Given the description of an element on the screen output the (x, y) to click on. 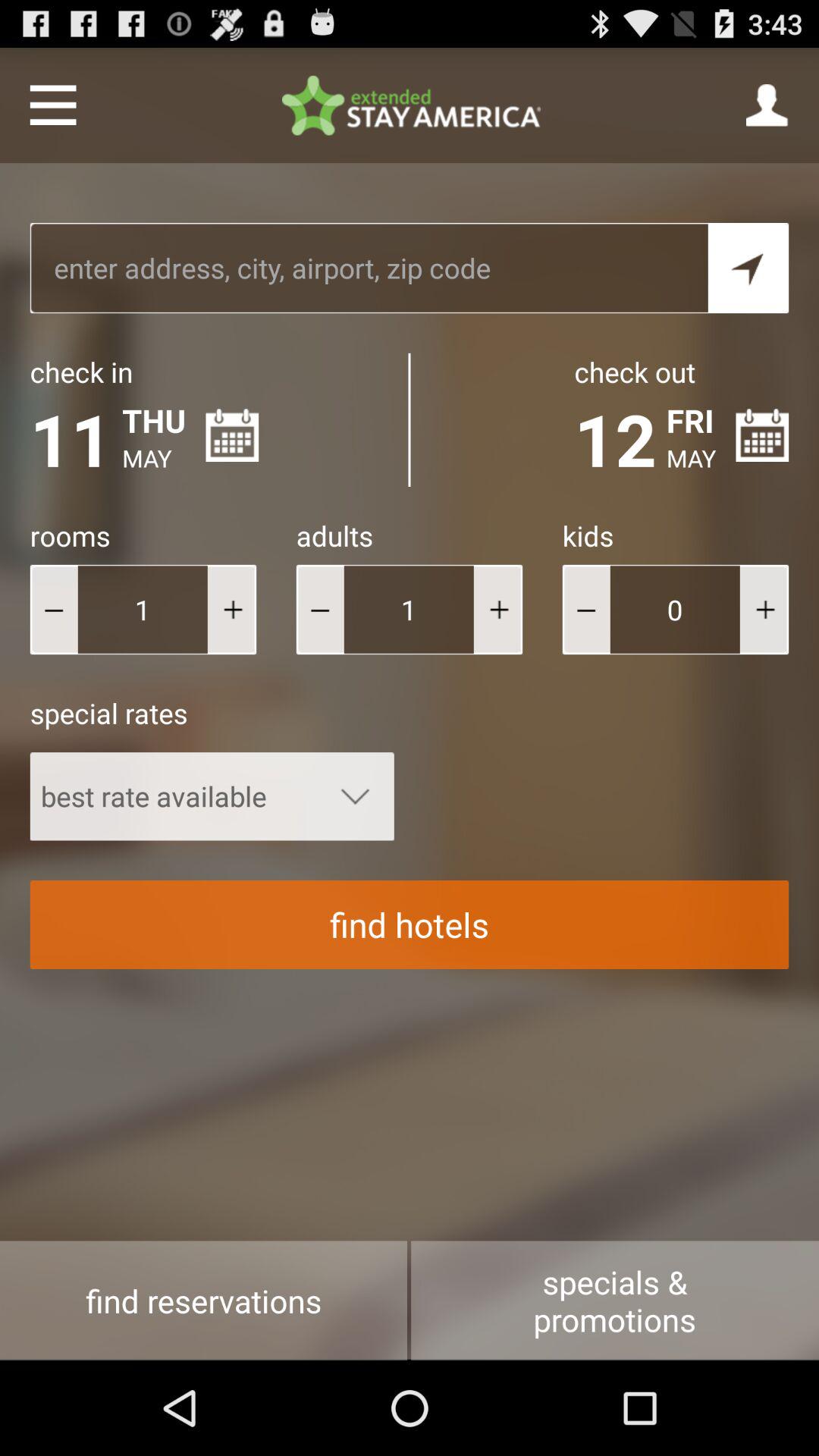
use location (748, 267)
